Given the description of an element on the screen output the (x, y) to click on. 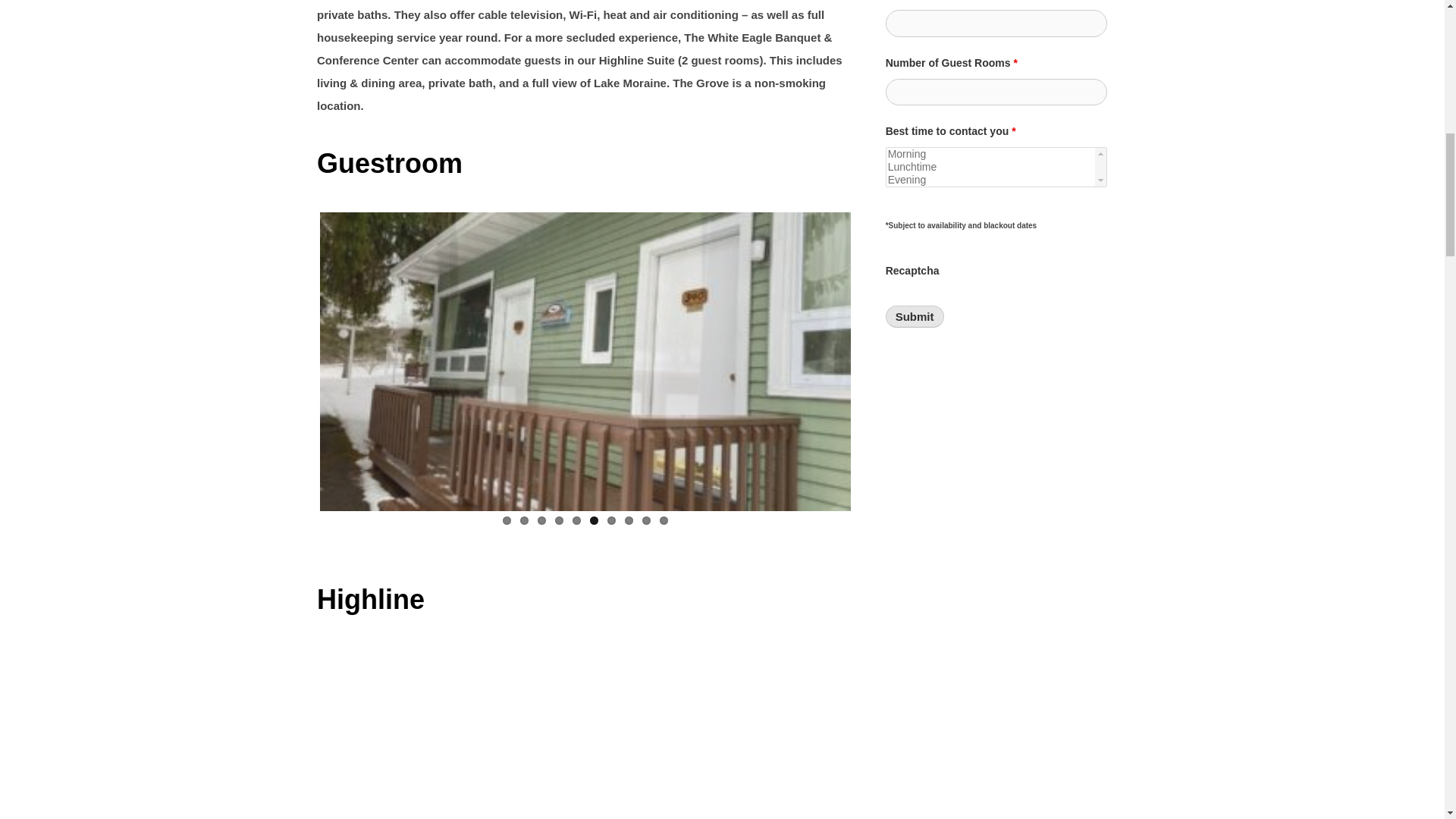
9 (646, 520)
7 (611, 520)
2 (523, 520)
5 (576, 520)
10 (663, 520)
6 (593, 520)
3 (541, 520)
Submit (914, 316)
4 (558, 520)
8 (628, 520)
1 (506, 520)
